Given the description of an element on the screen output the (x, y) to click on. 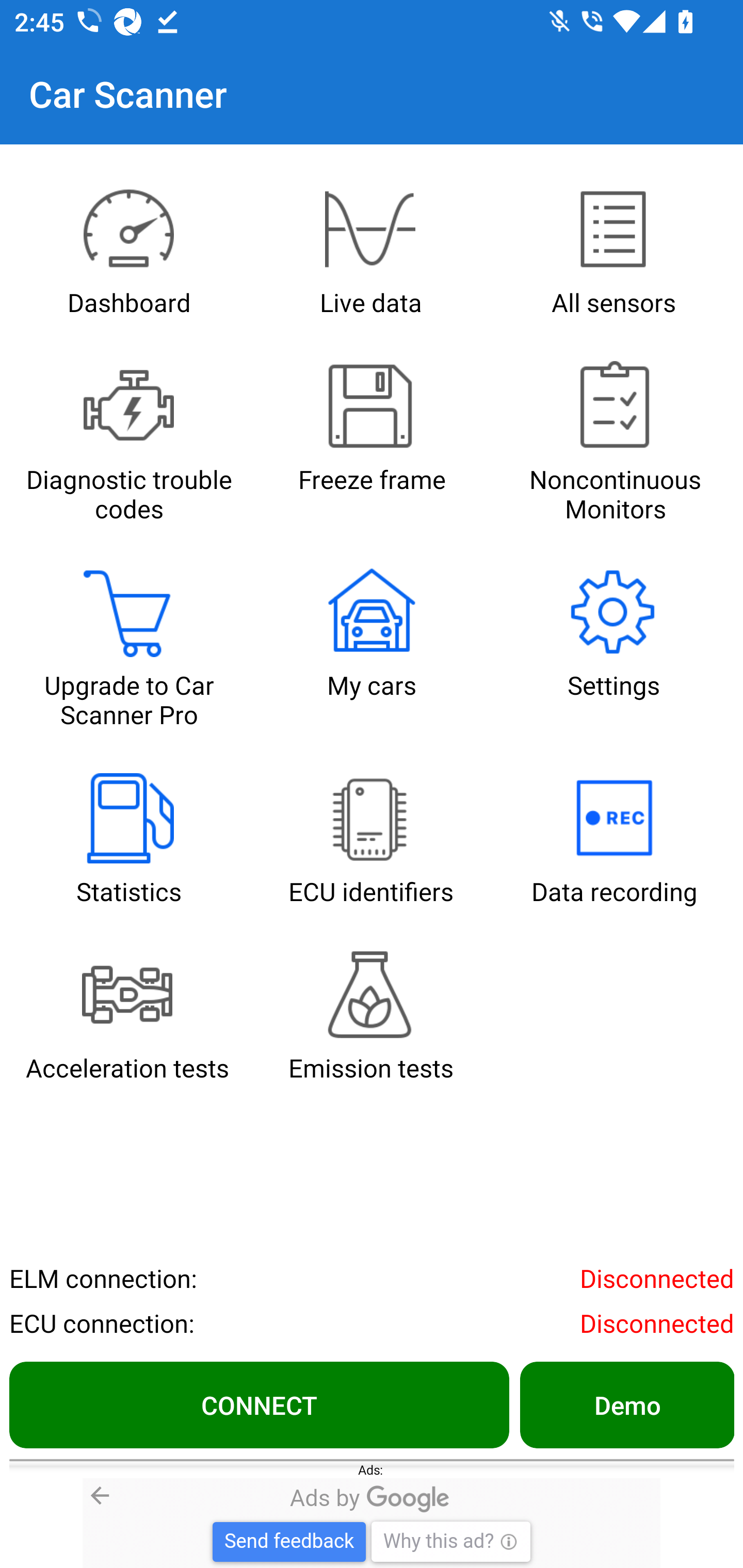
CONNECT (258, 1404)
Demo (627, 1404)
